Given the description of an element on the screen output the (x, y) to click on. 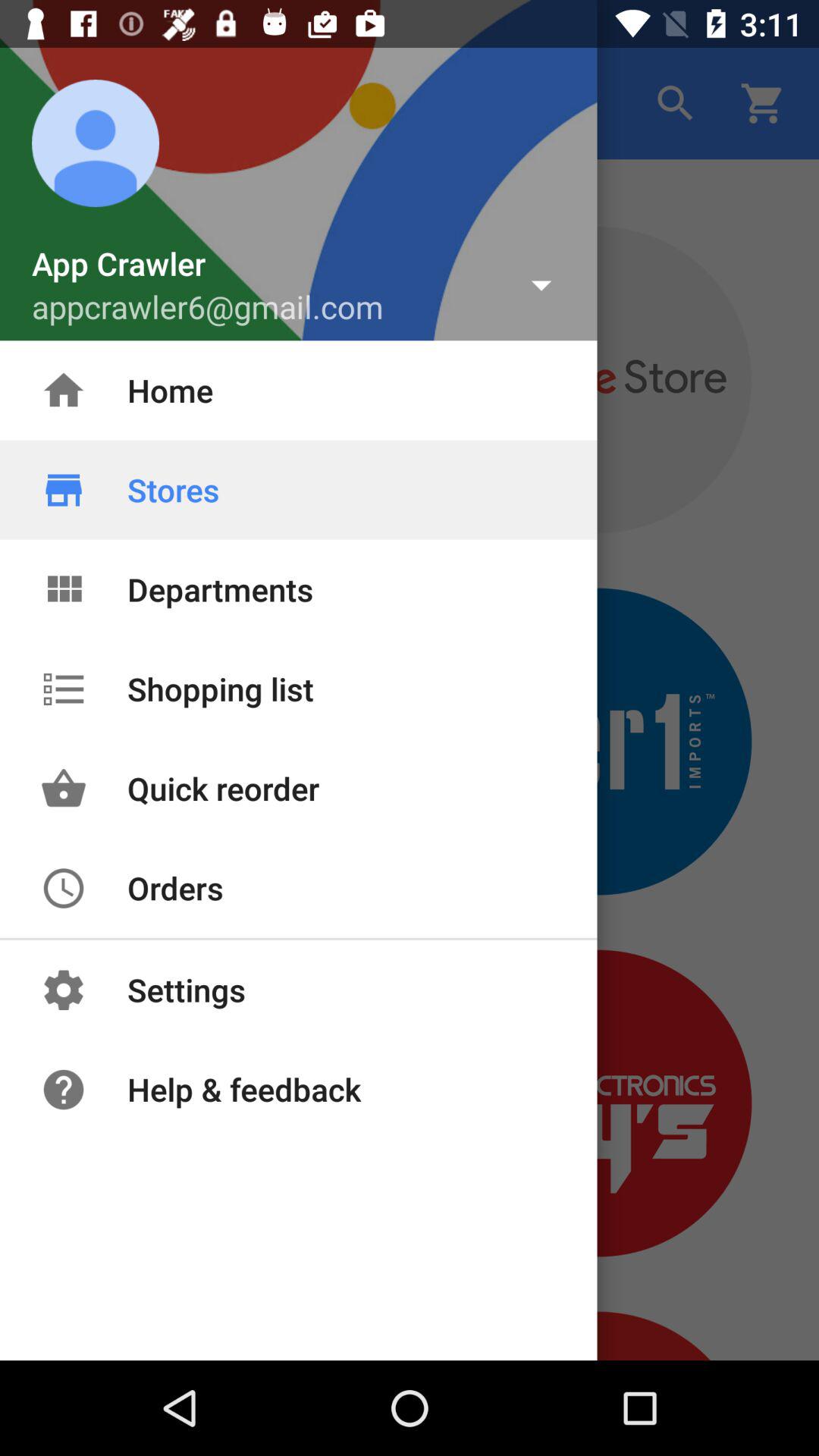
select the icon of orders above settings (63, 887)
